Given the description of an element on the screen output the (x, y) to click on. 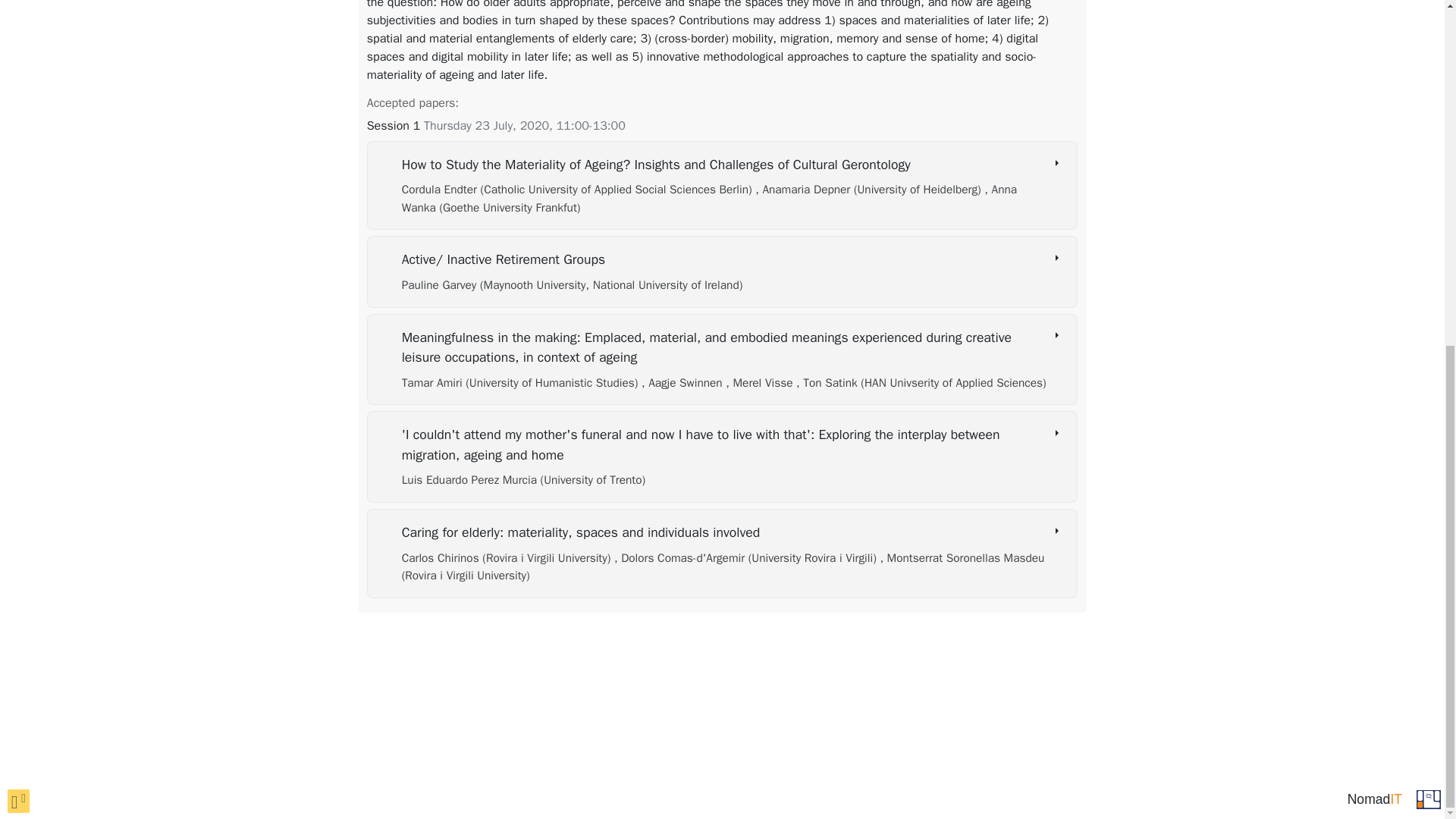
Author (708, 197)
Author (921, 382)
Author (578, 189)
Author (523, 479)
click to toggle popover (17, 207)
Author (869, 189)
Author (507, 557)
Author (521, 382)
Author (683, 382)
Author (760, 382)
Author (746, 557)
Author (571, 284)
NomadIT (1374, 205)
